Given the description of an element on the screen output the (x, y) to click on. 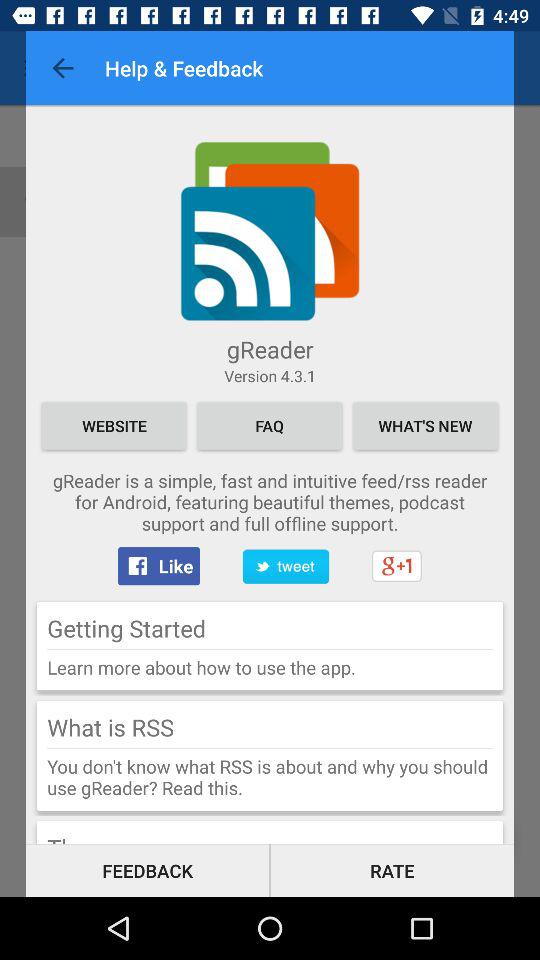
choose website item (114, 425)
